Given the description of an element on the screen output the (x, y) to click on. 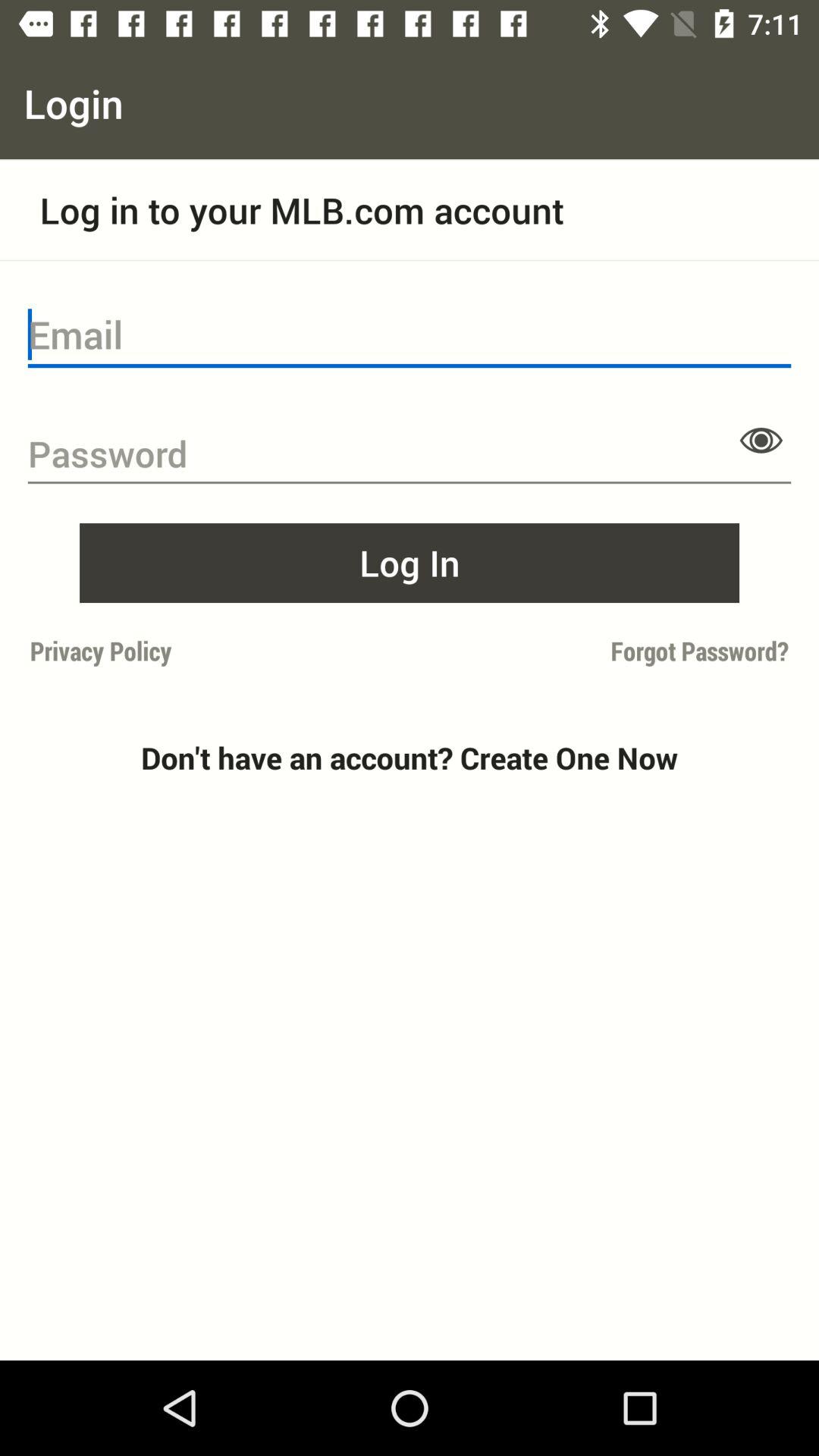
enter password (409, 454)
